Given the description of an element on the screen output the (x, y) to click on. 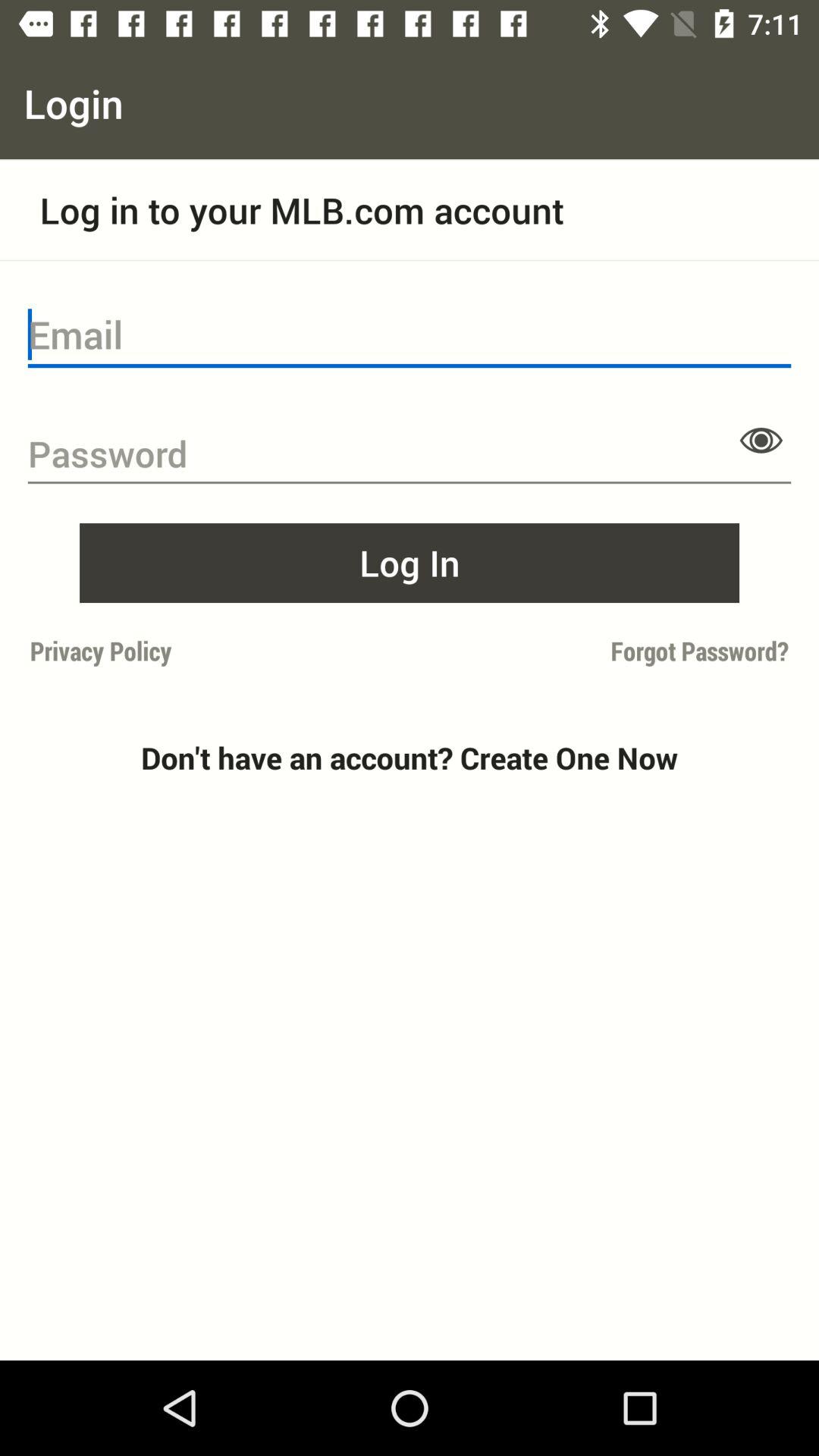
enter password (409, 454)
